Given the description of an element on the screen output the (x, y) to click on. 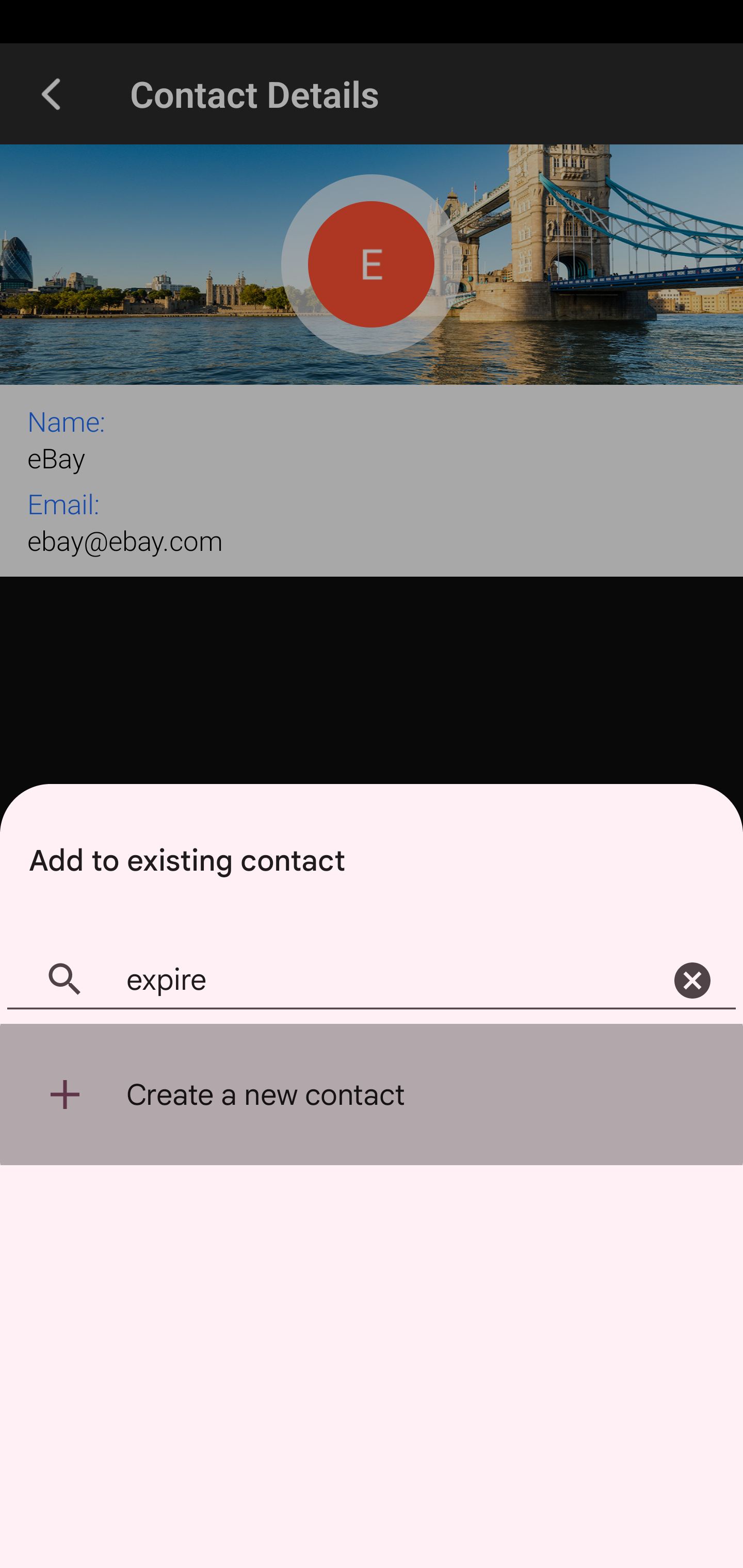
expire (371, 980)
Clear search (692, 980)
Create a new contact (371, 1094)
